Given the description of an element on the screen output the (x, y) to click on. 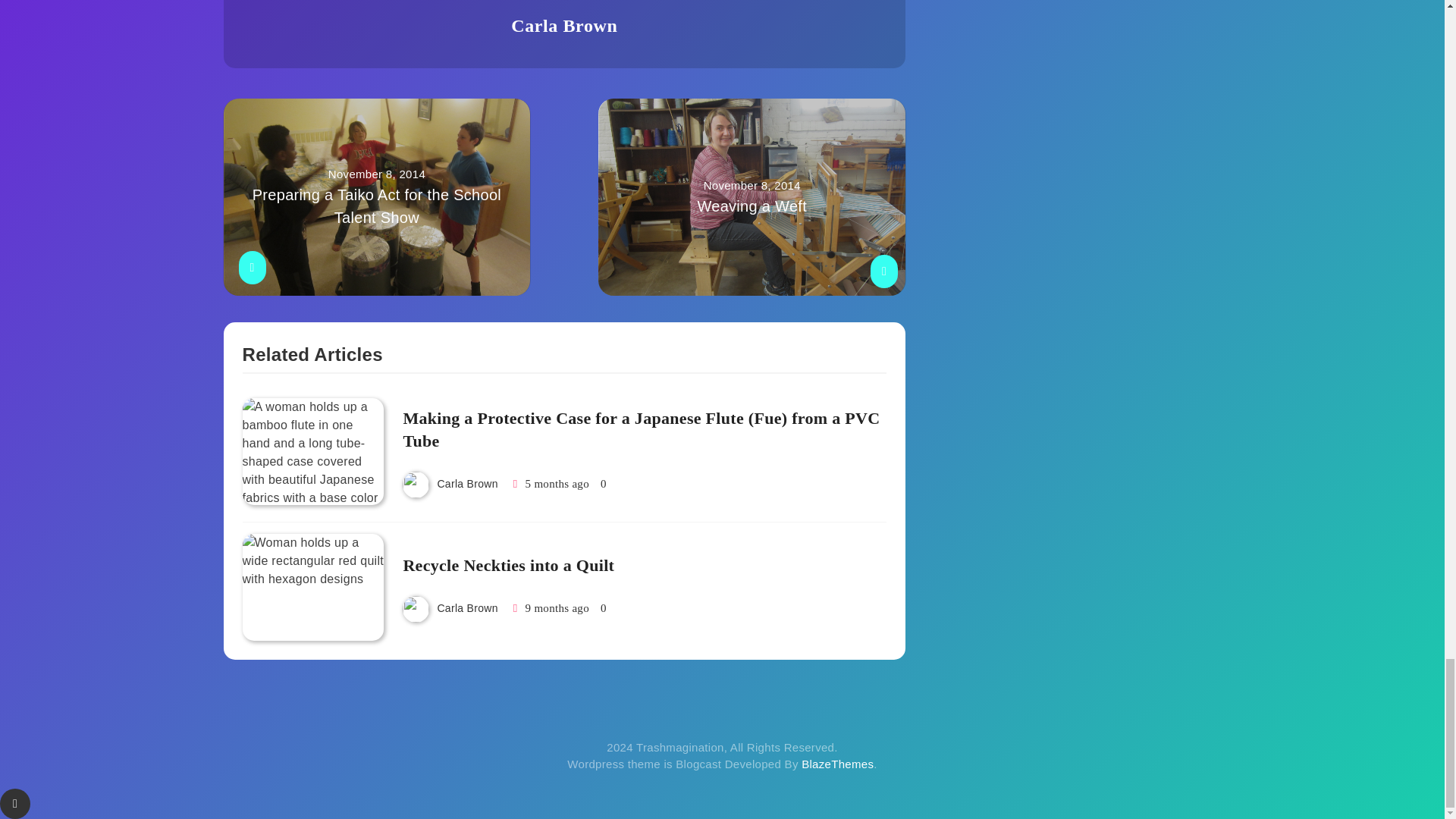
9 months ago (557, 607)
Carla Brown (751, 196)
Recycle Neckties into a Quilt (466, 607)
5 months ago (508, 566)
Carla Brown (557, 483)
Carla Brown (564, 25)
